Given the description of an element on the screen output the (x, y) to click on. 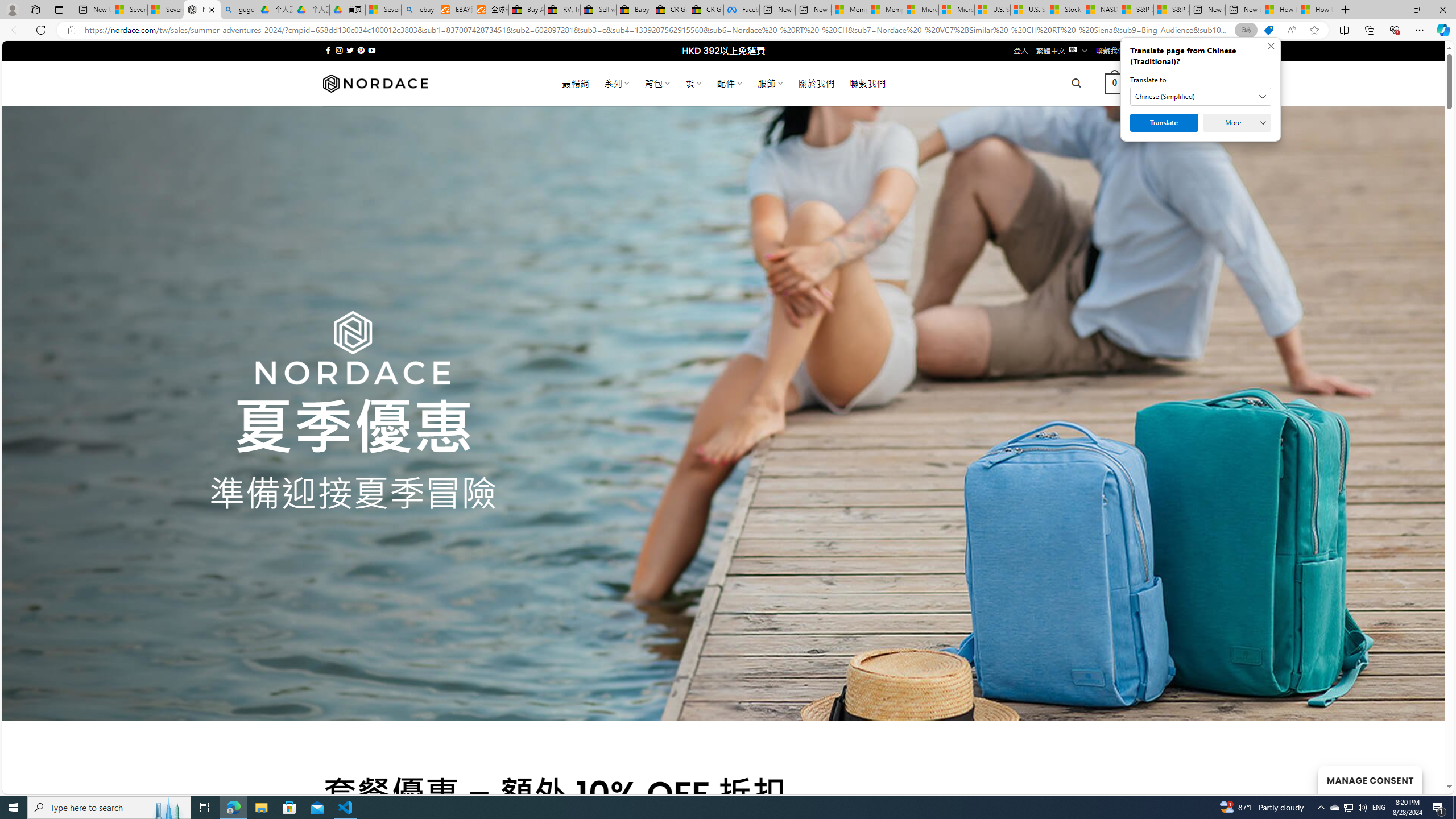
Restore (1416, 9)
Follow on Pinterest (360, 50)
Close (1442, 9)
Nordace (374, 83)
Browser essentials (1394, 29)
Follow on Twitter (349, 50)
How to Use a Monitor With Your Closed Laptop (1315, 9)
Nordace - Summer Adventures 2024 (202, 9)
